Given the description of an element on the screen output the (x, y) to click on. 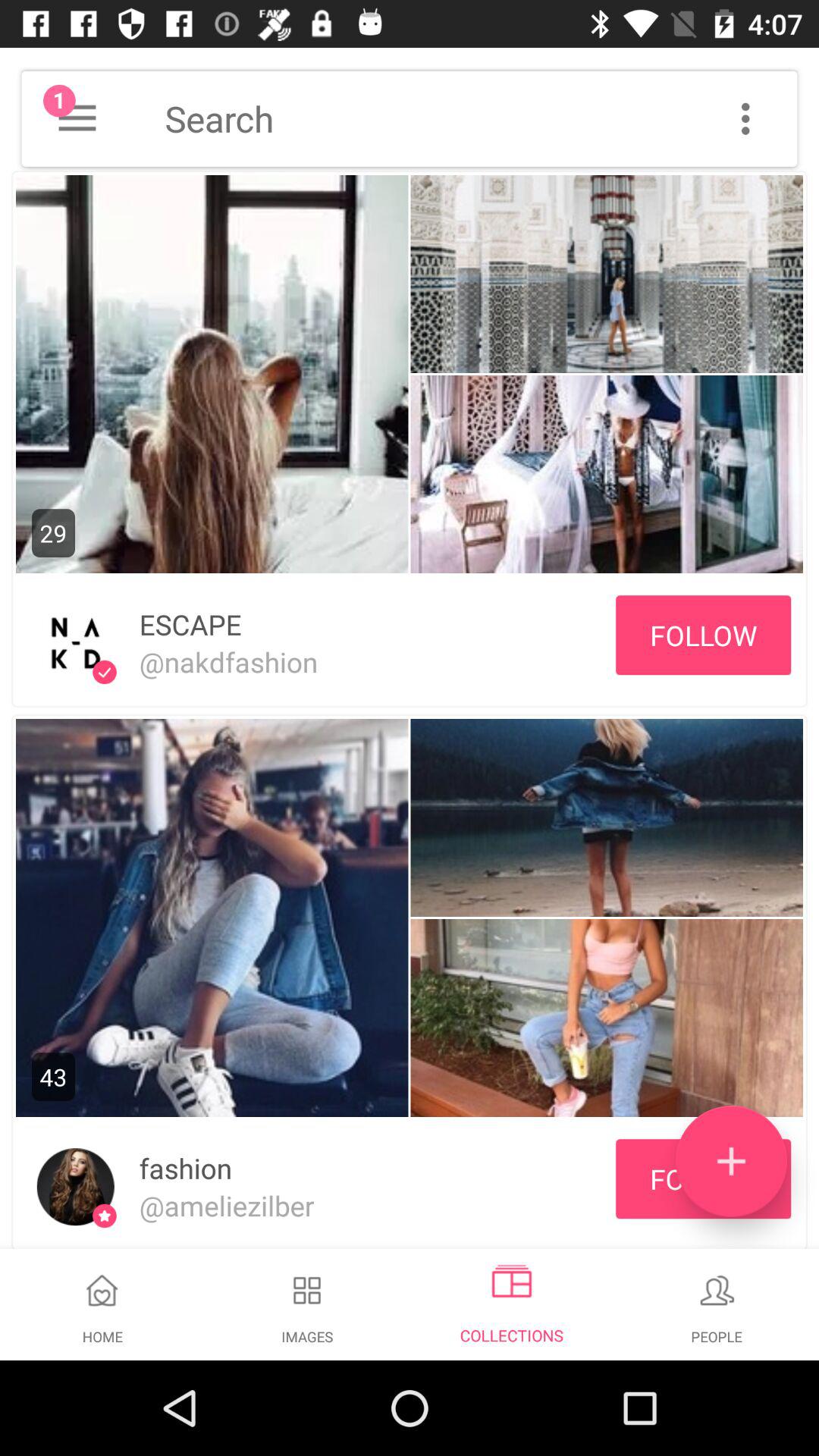
menu button (745, 118)
